Given the description of an element on the screen output the (x, y) to click on. 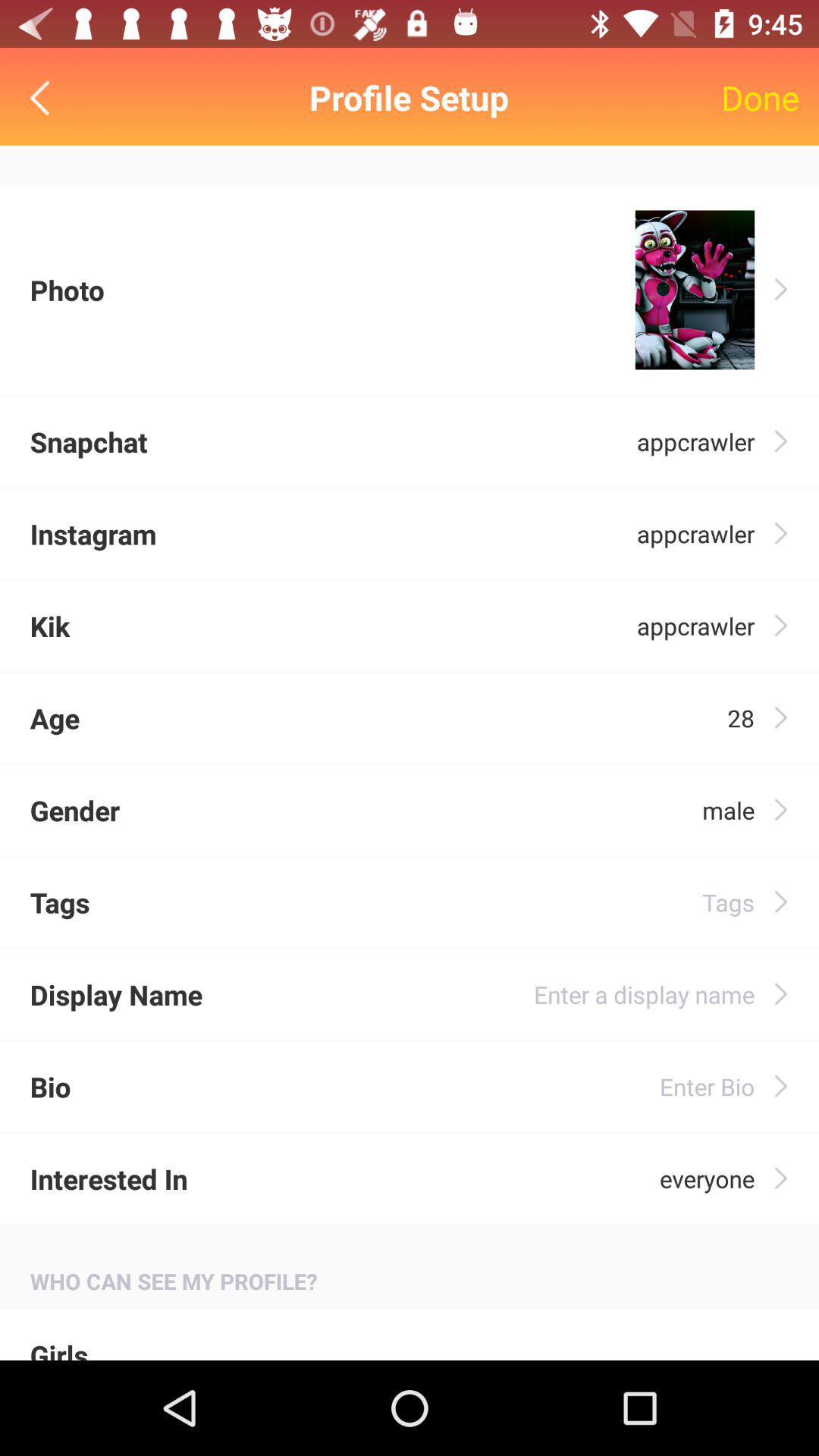
back/return icon (43, 97)
